Given the description of an element on the screen output the (x, y) to click on. 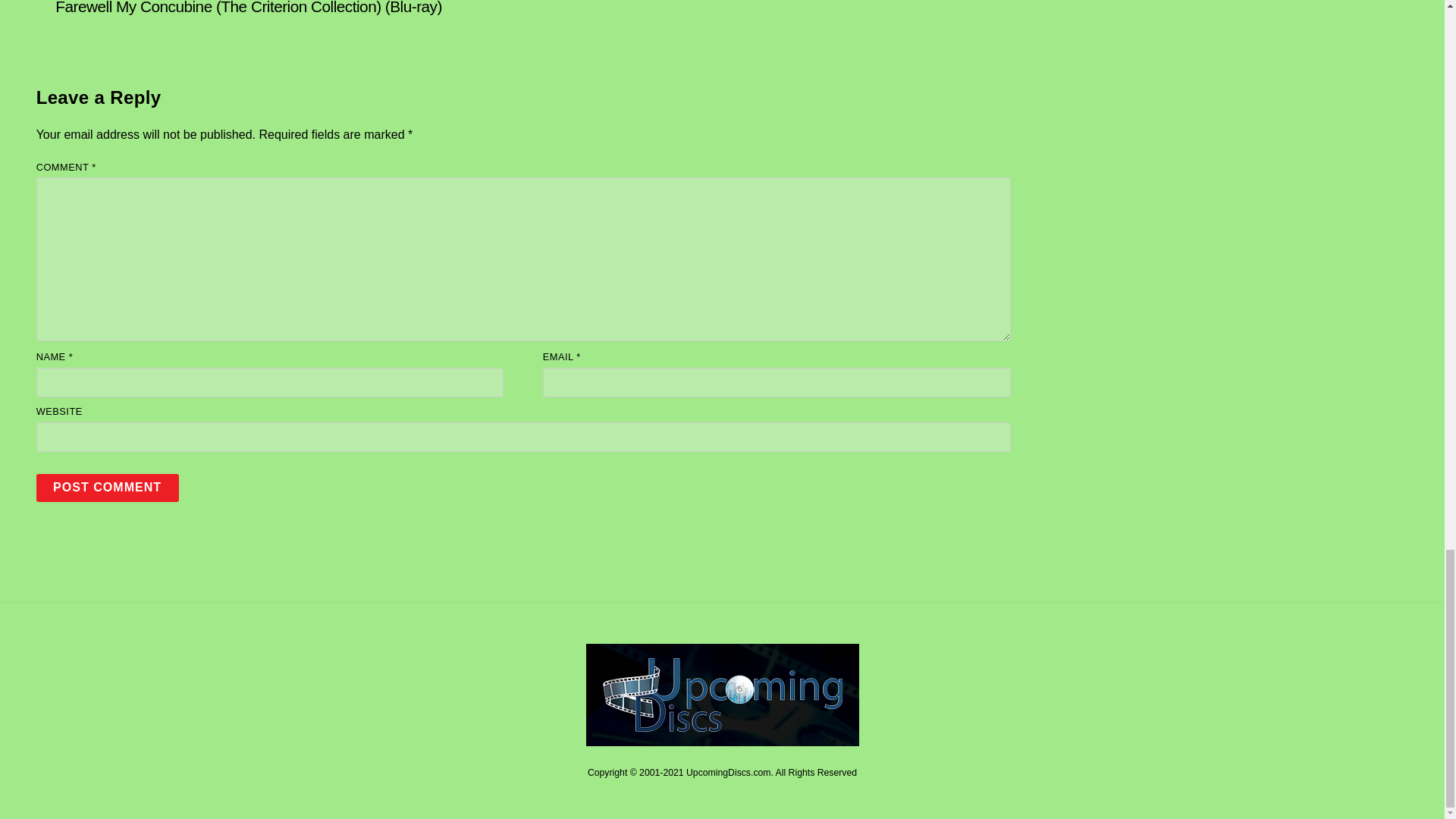
Post Comment (107, 488)
UpcomingDiscs.com (722, 740)
